Given the description of an element on the screen output the (x, y) to click on. 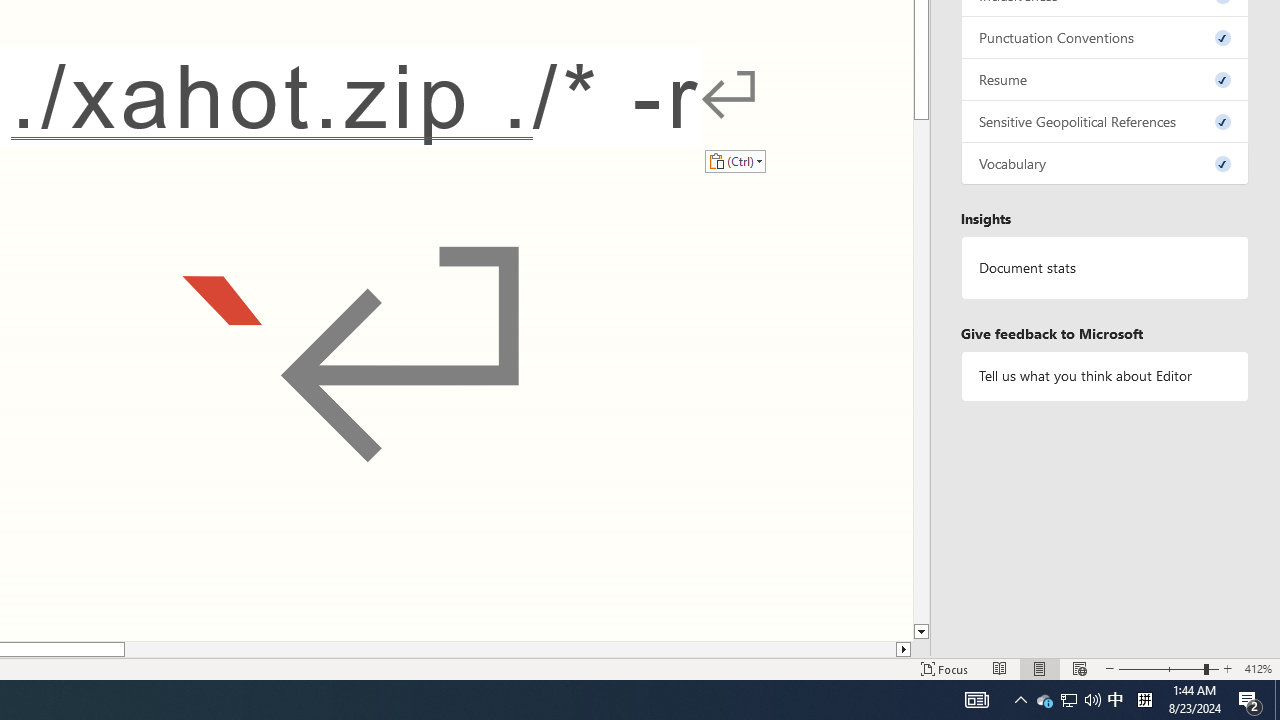
Action: Paste alternatives (735, 160)
Page right (510, 649)
Line down (921, 632)
Document statistics (1105, 267)
Zoom (1168, 668)
Tell us what you think about Editor (1105, 376)
Resume, 0 issues. Press space or enter to review items. (1105, 79)
Column right (904, 649)
